Given the description of an element on the screen output the (x, y) to click on. 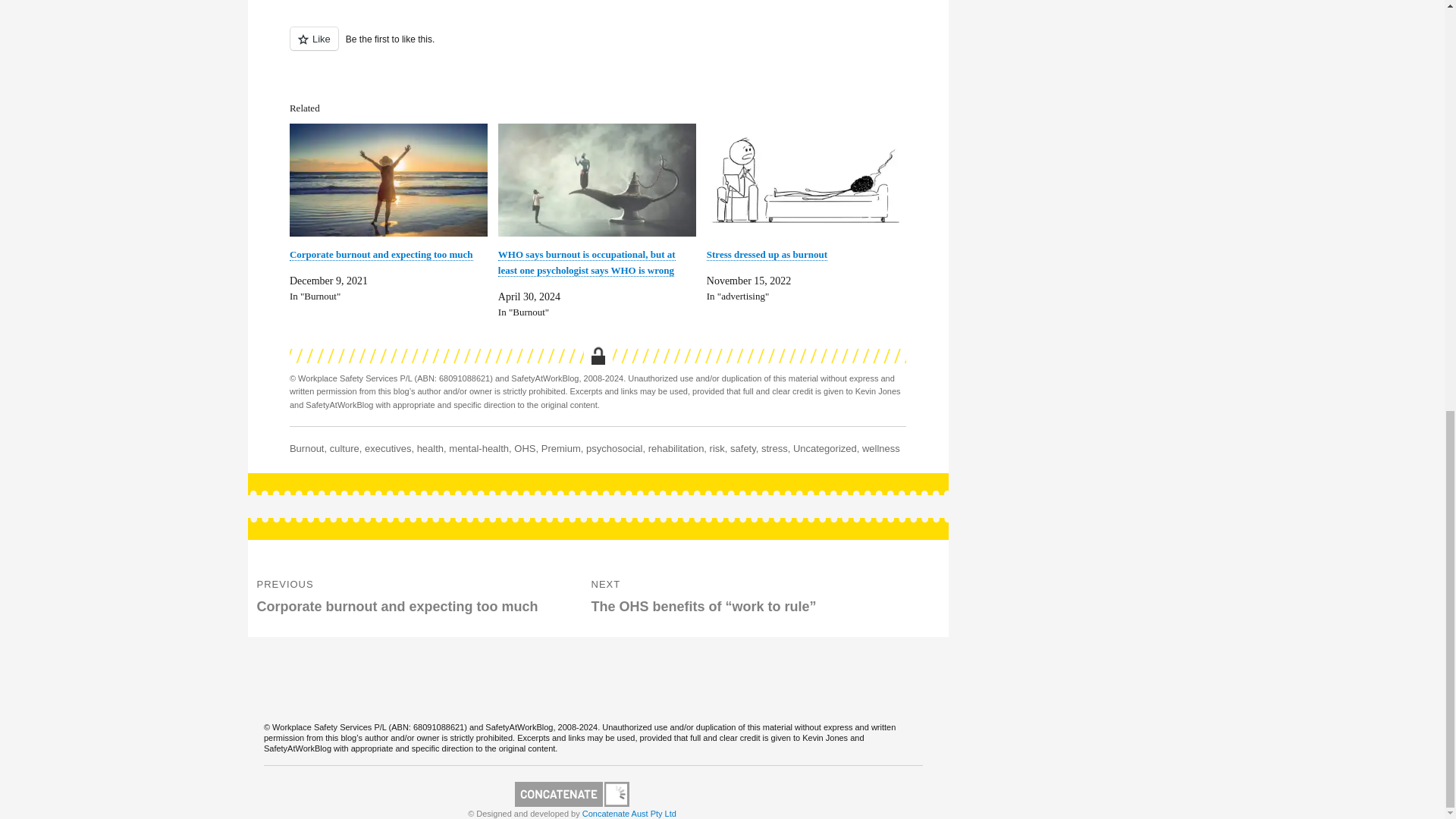
Premium (560, 448)
culture (344, 448)
Corporate burnout and expecting too much (381, 254)
Corporate burnout and expecting too much (381, 254)
Burnout (306, 448)
safety (742, 448)
Stress dressed up as burnout (805, 179)
OHS (524, 448)
psychosocial (614, 448)
risk (717, 448)
Stress dressed up as burnout (766, 254)
executives (387, 448)
